Given the description of an element on the screen output the (x, y) to click on. 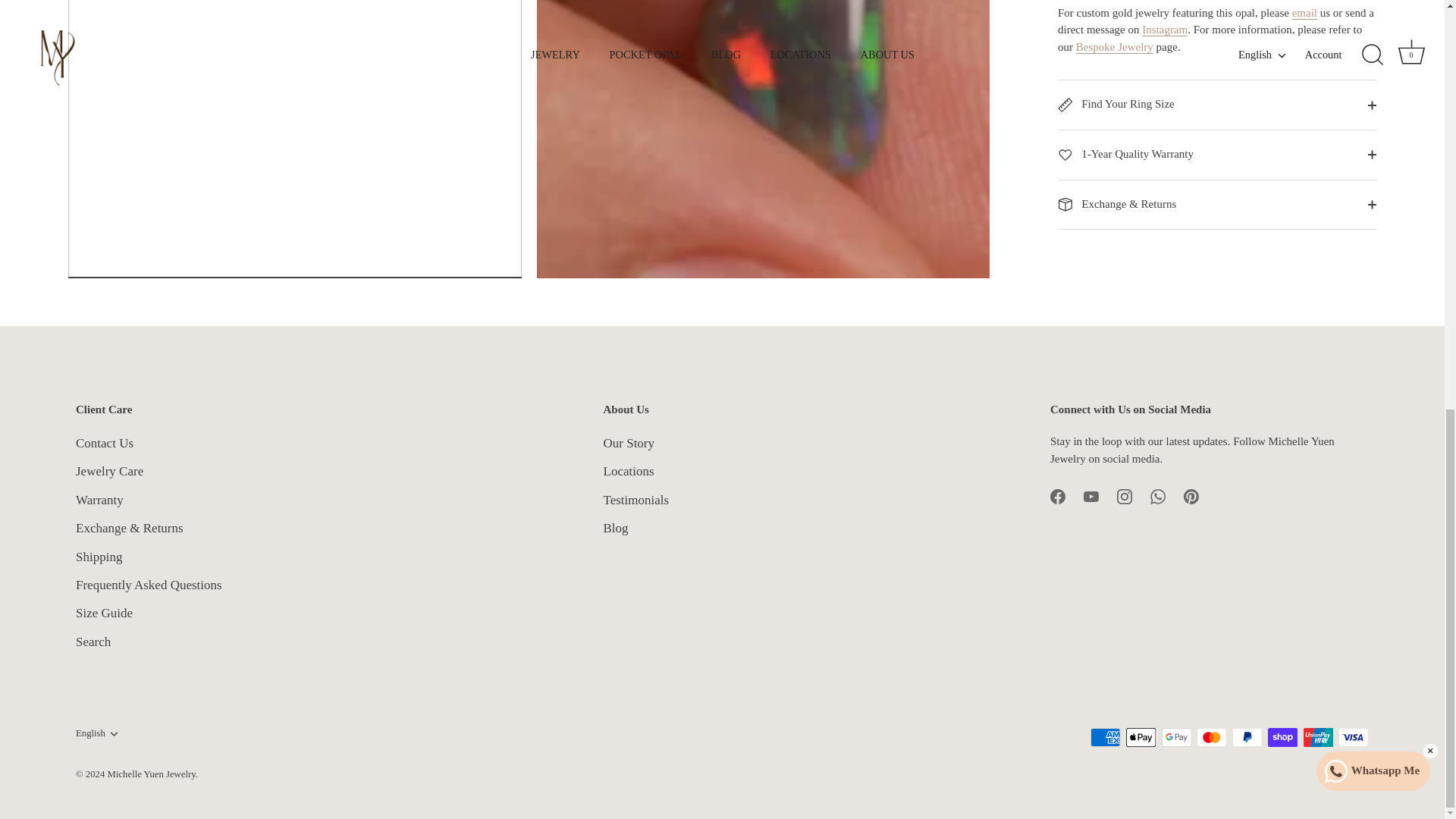
Bespoke Jewellery (1114, 47)
American Express (1105, 719)
Shop Pay (1282, 719)
Apple Pay (1140, 719)
Mastercard (1210, 719)
Pocket Opal IG (1164, 29)
Youtube (1091, 478)
Pinterest (1190, 478)
PayPal (1246, 719)
Google Pay (1176, 719)
Instagram (1124, 478)
Contact (1304, 12)
Union Pay (1318, 719)
